Given the description of an element on the screen output the (x, y) to click on. 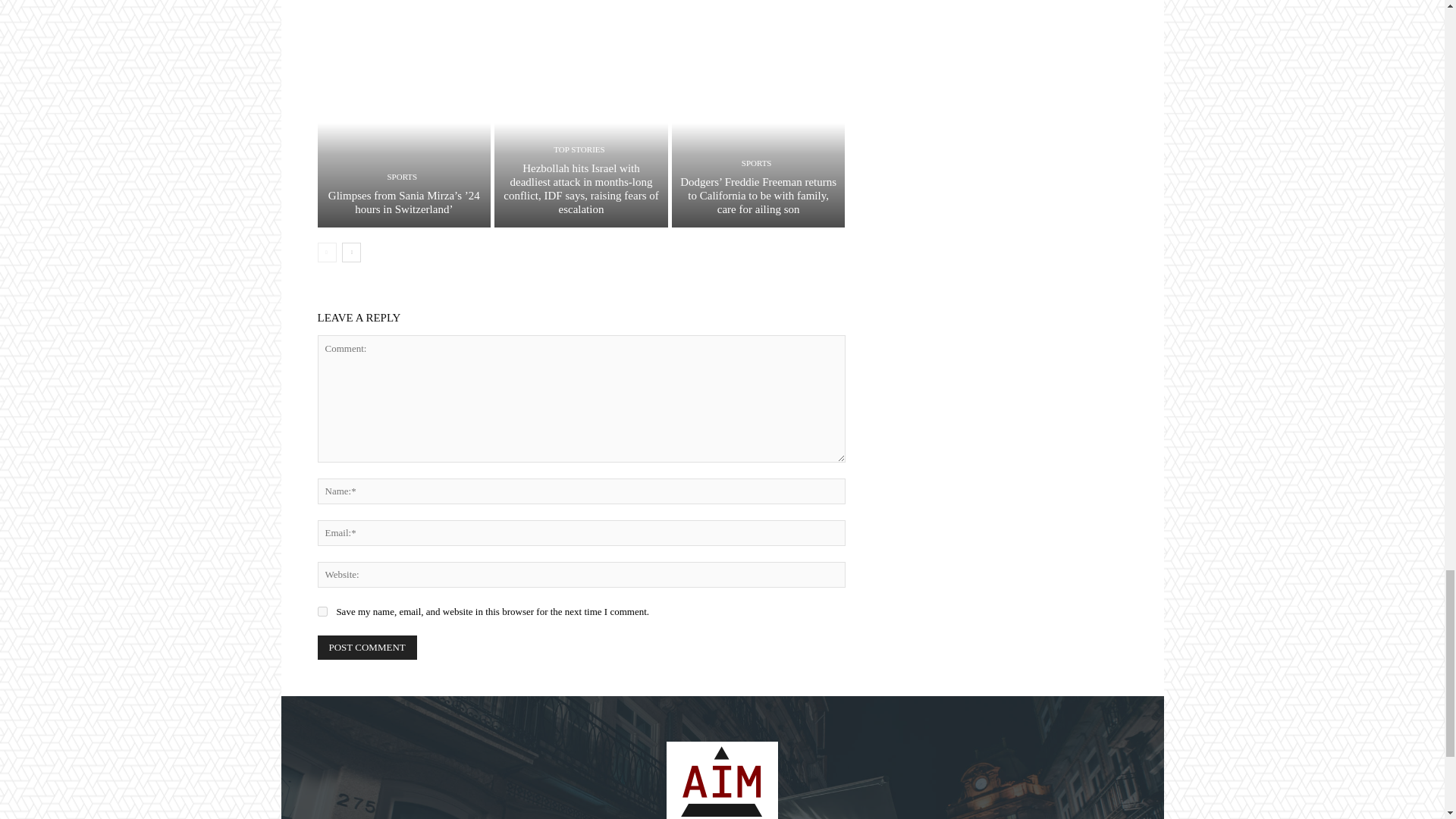
yes (321, 611)
Post Comment (366, 647)
